Given the description of an element on the screen output the (x, y) to click on. 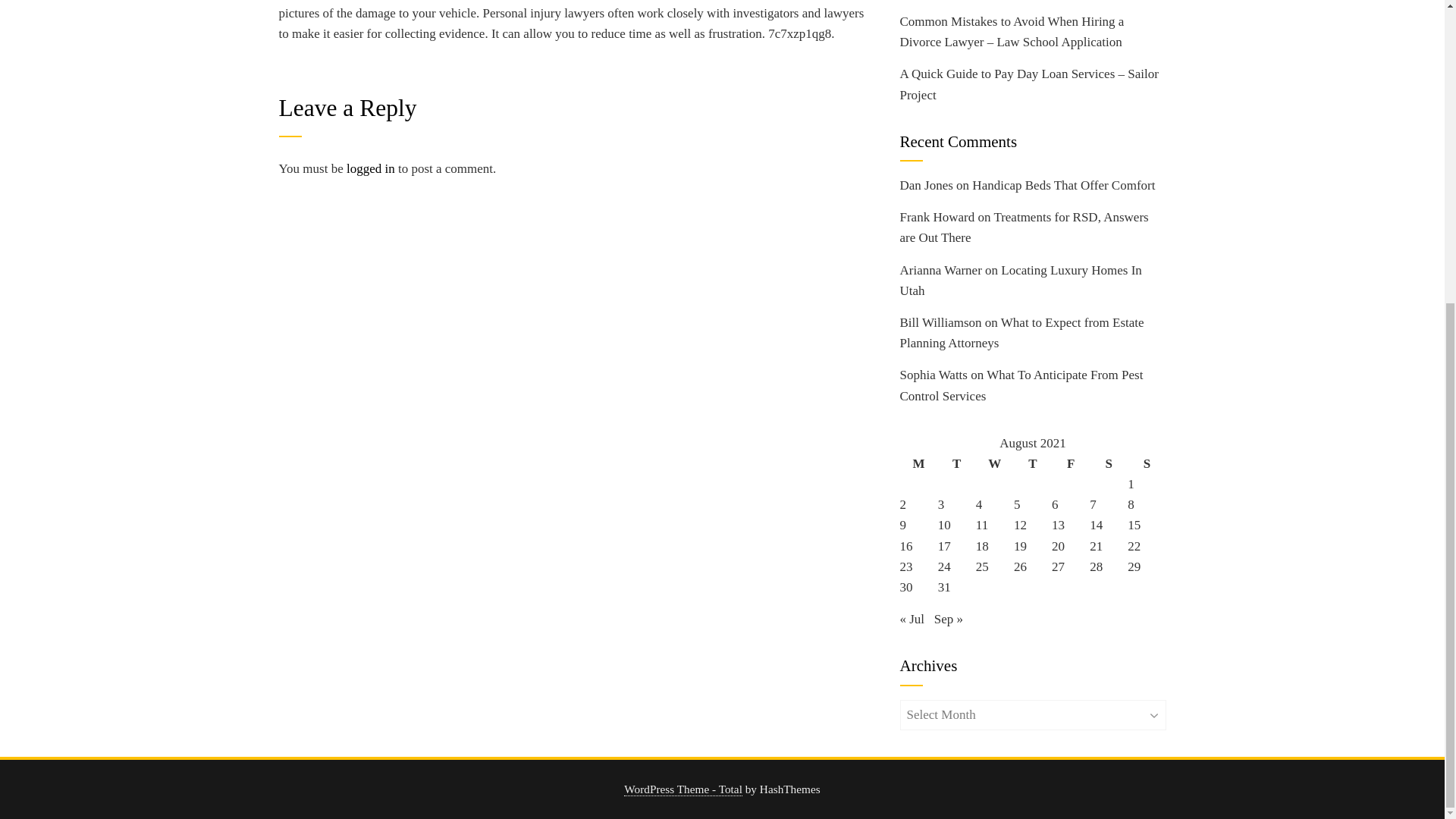
20 (1057, 545)
27 (1057, 566)
logged in (370, 168)
28 (1095, 566)
Treatments for RSD, Answers are Out There (1023, 226)
Frank Howard (936, 216)
What to Expect from Estate Planning Attorneys (1020, 332)
Handicap Beds That Offer Comfort (1063, 185)
26 (1019, 566)
Locating Luxury Homes In Utah (1020, 280)
